Given the description of an element on the screen output the (x, y) to click on. 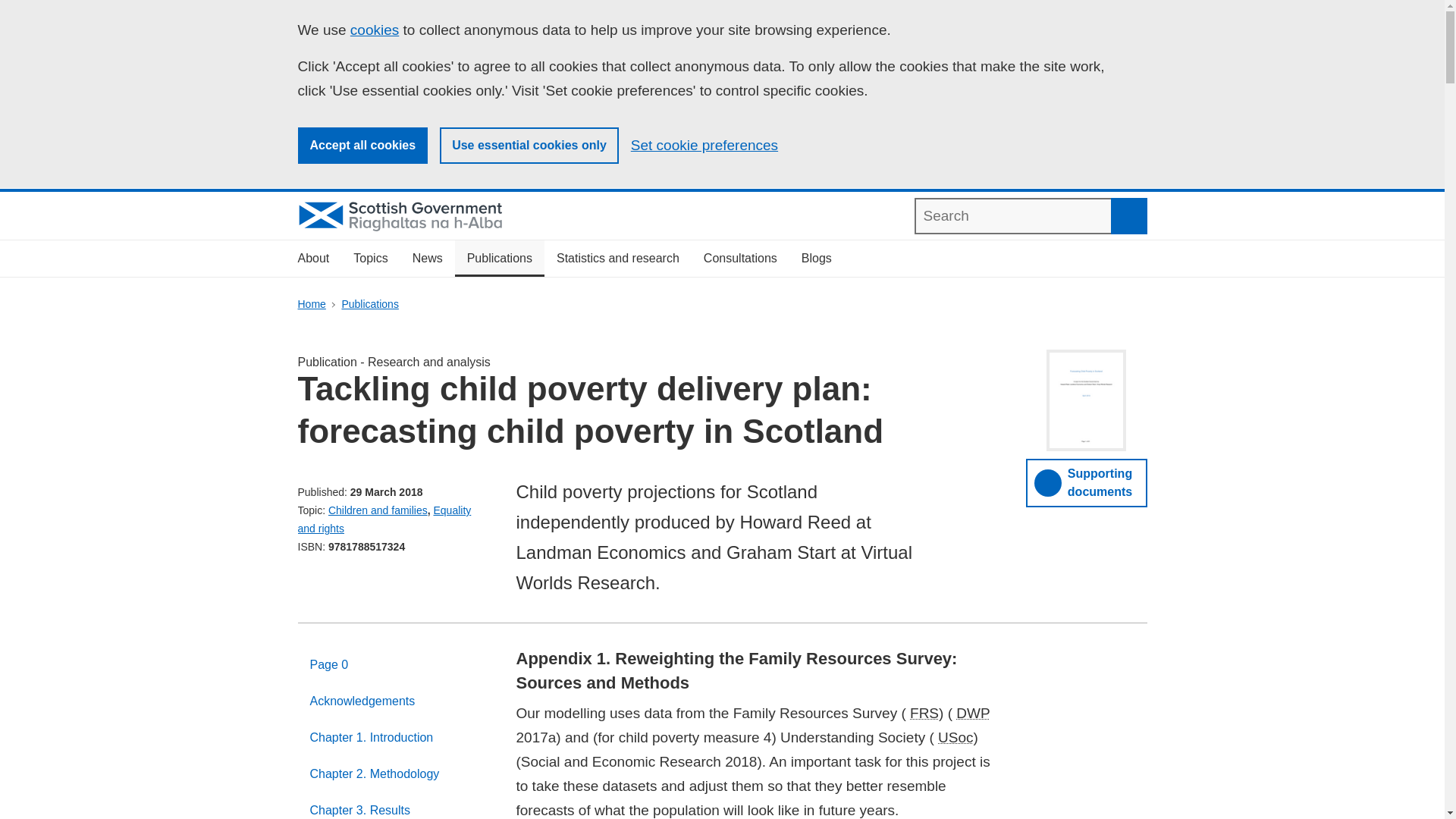
Use essential cookies only (528, 145)
Statistics and research (617, 258)
Consultations (740, 258)
Blogs (816, 258)
Home (310, 304)
Chapter 1. Introduction (394, 736)
Page 0 (394, 664)
Children and families (378, 510)
Accept all cookies (362, 145)
Search (1128, 216)
Publications (499, 258)
News (427, 258)
Topics (369, 258)
Publications (369, 304)
